Given the description of an element on the screen output the (x, y) to click on. 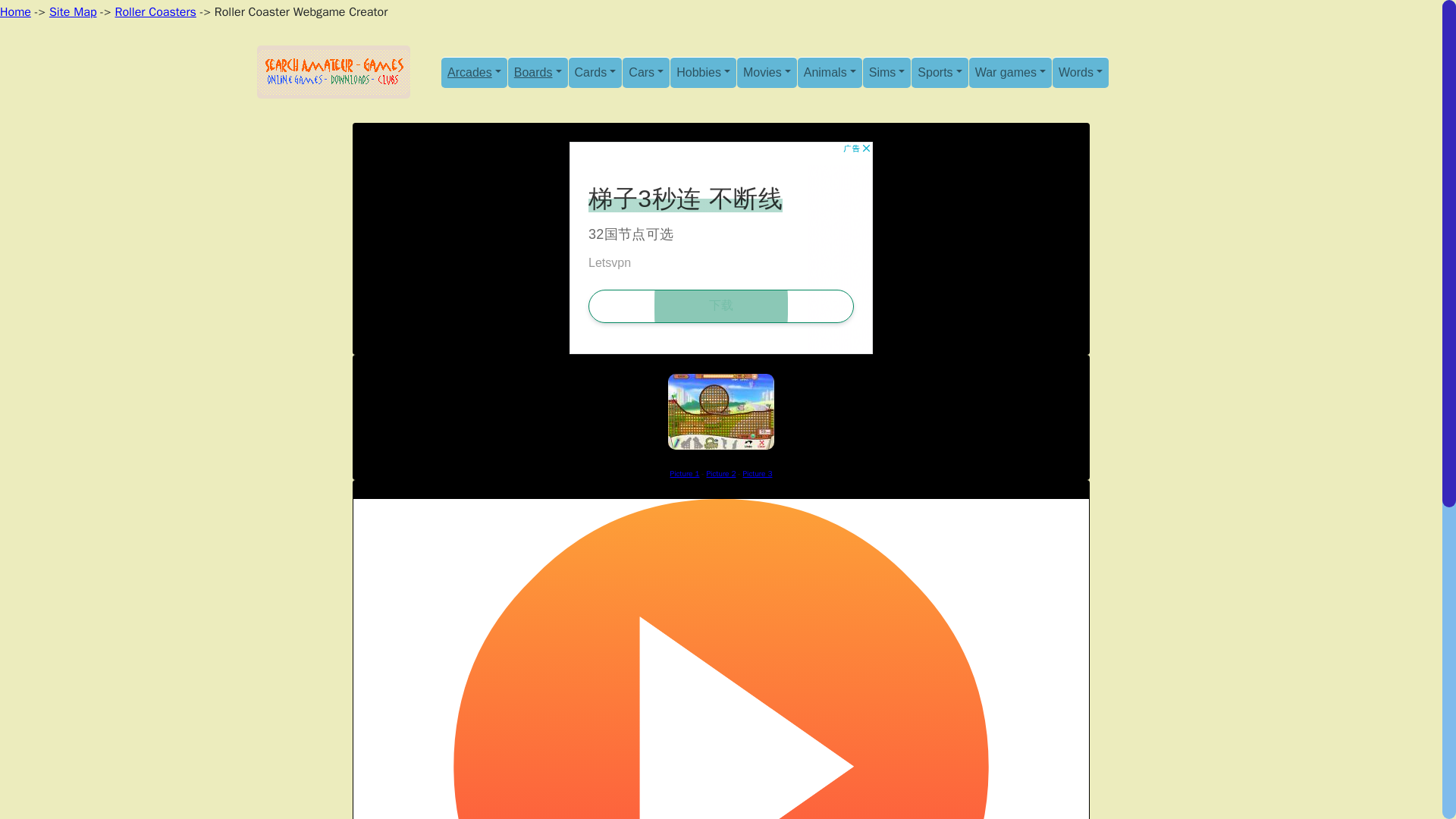
Site Map (73, 11)
Boards (537, 71)
Roller Coaster Webgame Creator (684, 473)
Cards (596, 71)
Roller Coasters (155, 11)
Home (15, 11)
Advertisement (720, 247)
Roller Coaster Webgame Creator 3 (756, 473)
Arcades (473, 71)
Roller Coaster Webgame Creator 2 (721, 473)
